Given the description of an element on the screen output the (x, y) to click on. 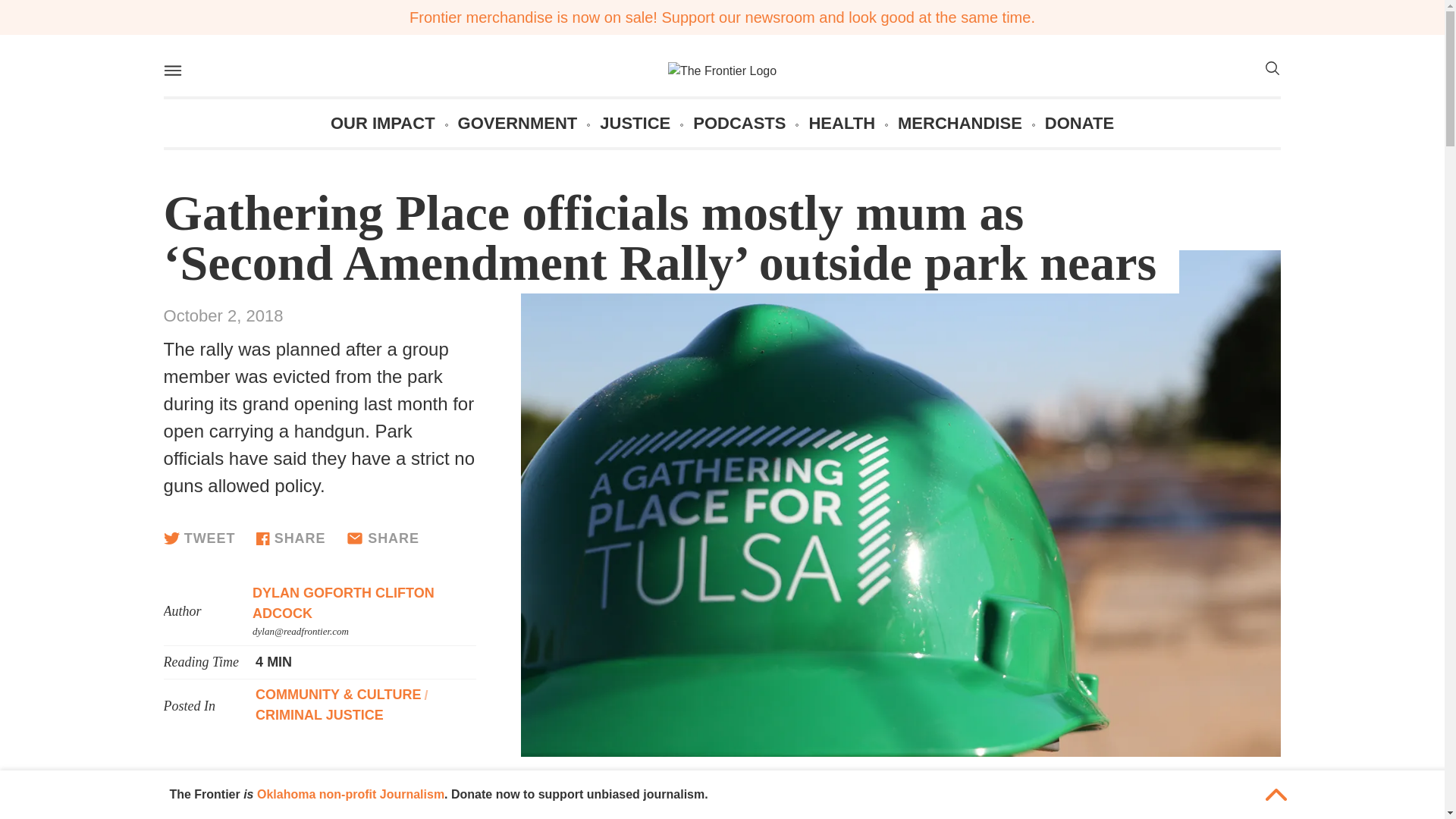
SEARCH-OUTLINE (1271, 67)
TWEET (199, 538)
JUSTICE (634, 122)
GOVERNMENT (518, 122)
menu-outline (171, 69)
MERCHANDISE (960, 122)
SHARE (382, 538)
SHARE (290, 538)
PODCASTS (739, 122)
HEALTH (841, 122)
DYLAN GOFORTH (313, 592)
OUR IMPACT (382, 122)
SEARCH-OUTLINE (1271, 70)
DONATE (1079, 122)
